Given the description of an element on the screen output the (x, y) to click on. 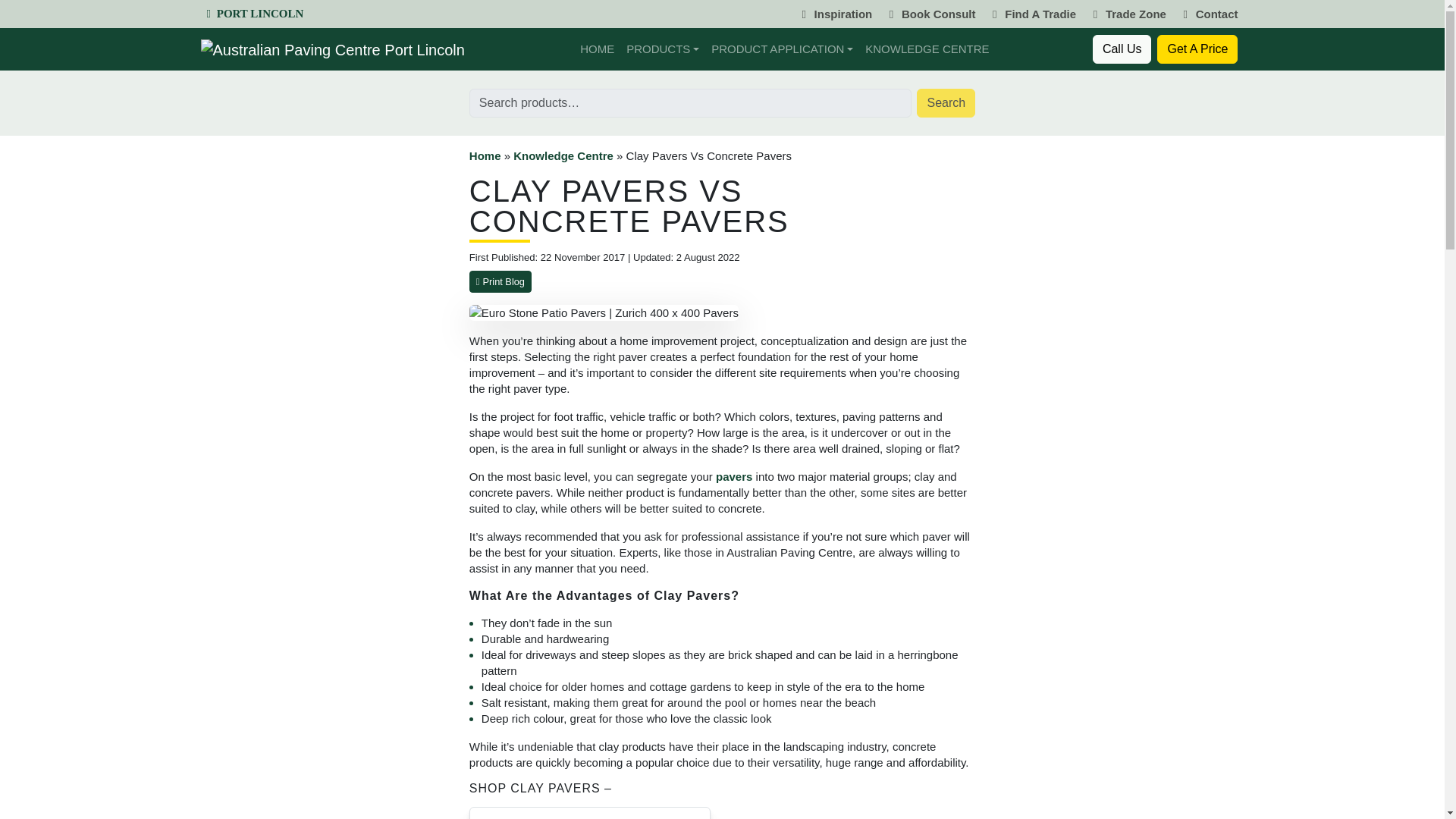
Inspiration (833, 13)
Book Consult (929, 13)
Book Consult (929, 13)
HOME (596, 49)
Trade Zone (1126, 13)
PRODUCTS (662, 49)
PRODUCT APPLICATION (781, 49)
Contact (1208, 13)
Find A Tradie (1031, 13)
Contact (1208, 13)
PORT LINCOLN (254, 13)
Inspiration (833, 13)
Find A Tradie (1031, 13)
Trade Zone (1126, 13)
